Given the description of an element on the screen output the (x, y) to click on. 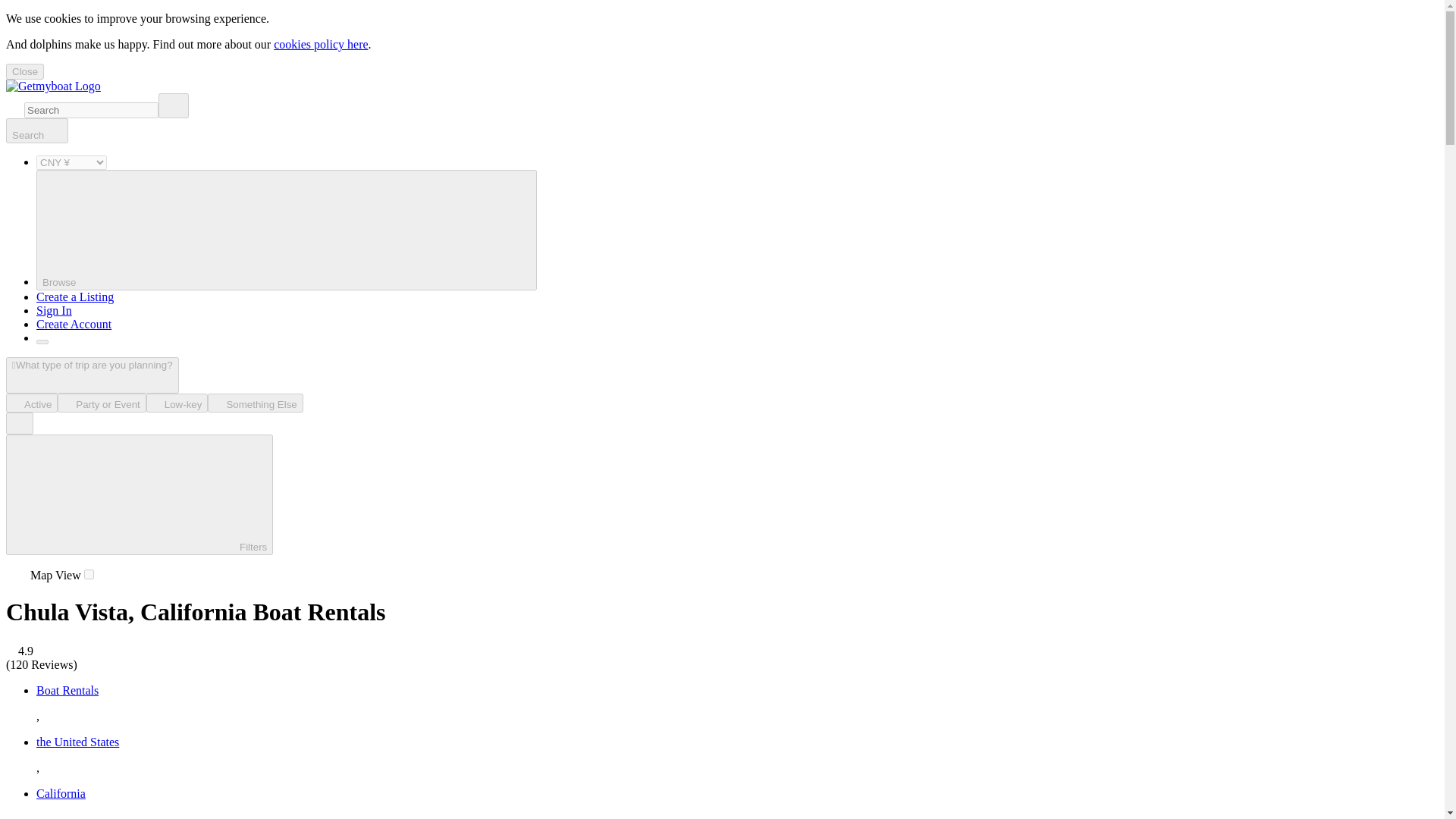
Sign In (53, 309)
Close (24, 71)
Create Account (74, 323)
cookies policy here (320, 43)
Create a Listing (74, 296)
Something Else (255, 402)
Low-key (177, 402)
Clear (173, 105)
Search (36, 130)
Browse (286, 229)
Active (31, 402)
Party or Event (101, 402)
on (89, 574)
Filters (139, 494)
